Given the description of an element on the screen output the (x, y) to click on. 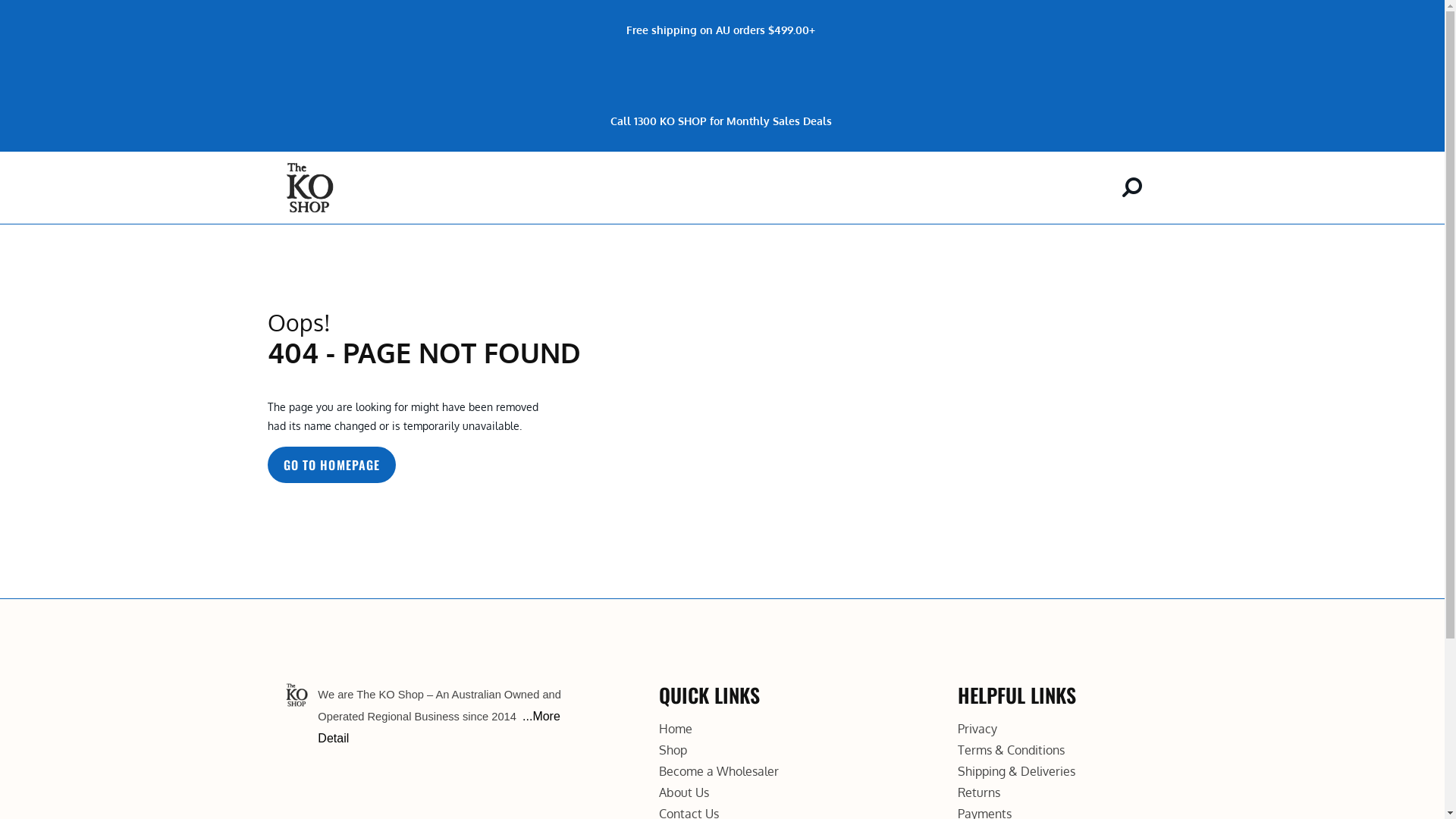
Home Element type: text (675, 728)
...More Detail Element type: text (438, 726)
Terms & Conditions Element type: text (1010, 749)
Become a Wholesaler Element type: text (718, 770)
Privacy Element type: text (977, 728)
About Us Element type: text (683, 792)
GO TO HOMEPAGE Element type: text (330, 464)
Shipping & Deliveries Element type: text (1016, 770)
Returns Element type: text (978, 792)
Shop Element type: text (672, 749)
